Given the description of an element on the screen output the (x, y) to click on. 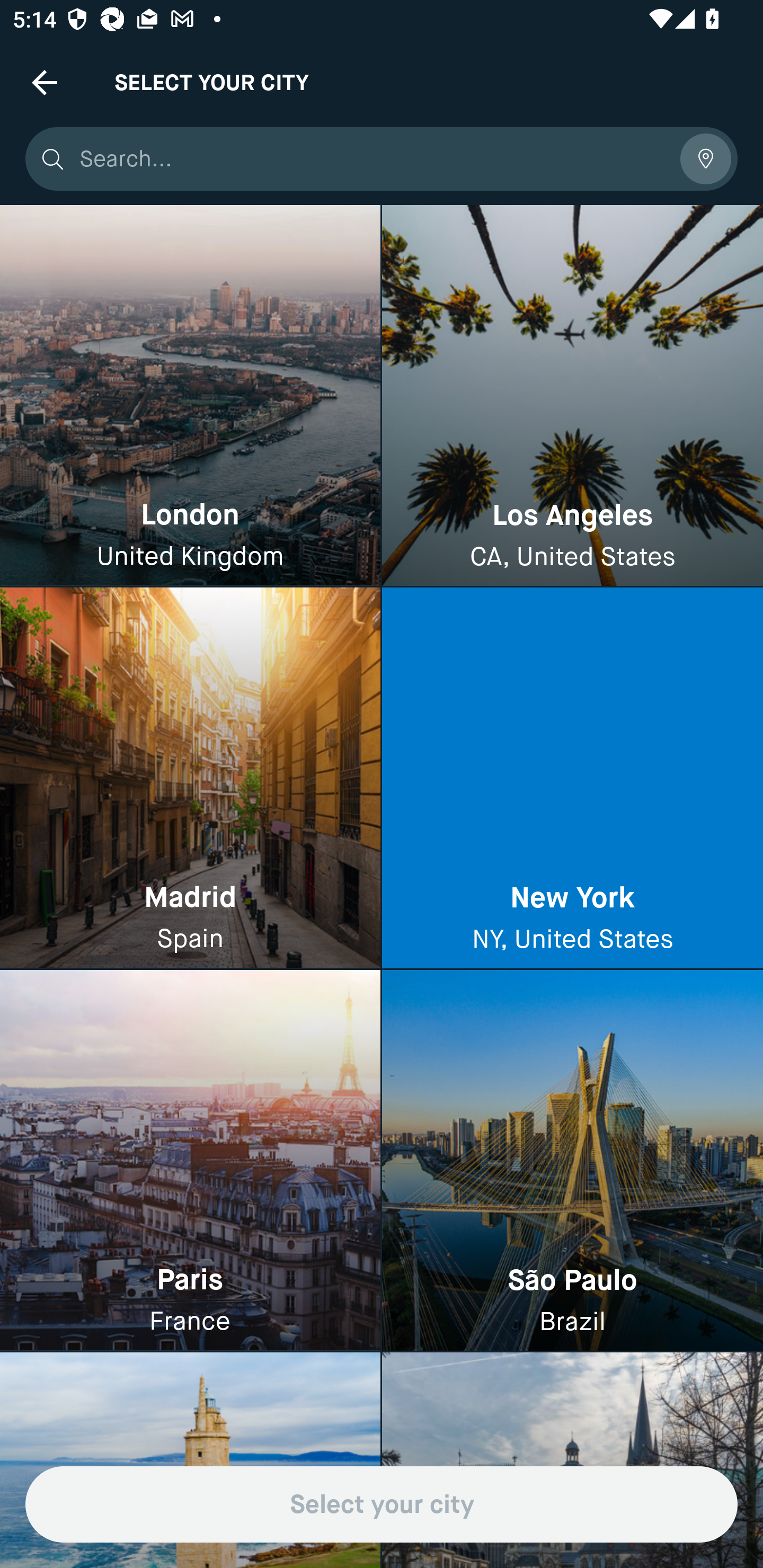
Navigate up (44, 82)
Search... (373, 159)
London United Kingdom (190, 395)
Los Angeles CA, United States (572, 395)
Madrid Spain (190, 778)
New York NY, United States (572, 778)
Paris France (190, 1160)
São Paulo Brazil (572, 1160)
Select your city (381, 1504)
